Given the description of an element on the screen output the (x, y) to click on. 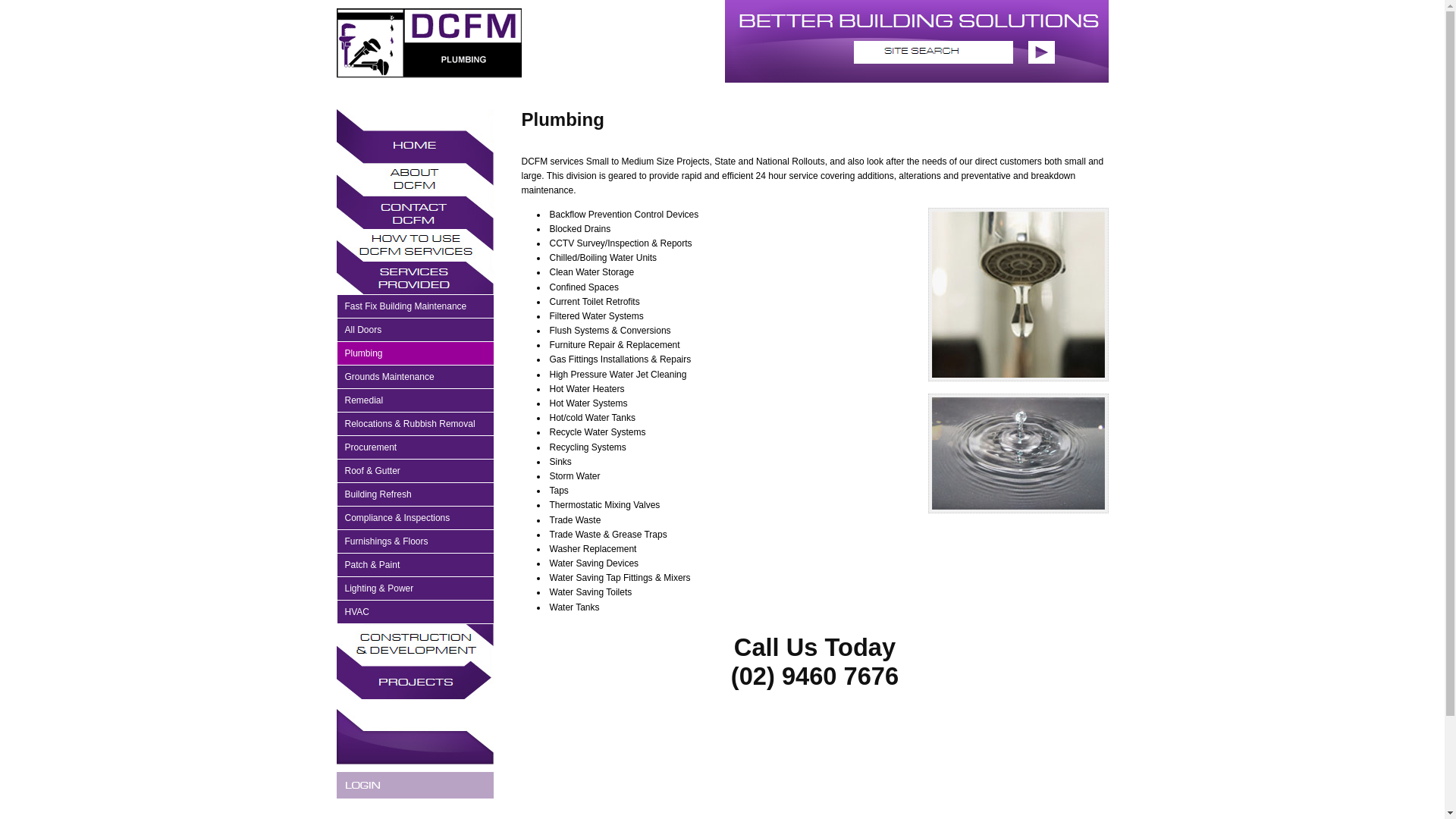
Building Refresh Element type: text (414, 494)
Fast Fix Building Maintenance Element type: text (414, 306)
Call Us Today
(02) 9460 7676 Element type: text (814, 661)
Compliance & Inspections Element type: text (414, 518)
Grounds Maintenance Element type: text (414, 377)
Furnishings & Floors Element type: text (414, 541)
Remedial Element type: text (414, 400)
All Doors Element type: text (414, 330)
Roof & Gutter Element type: text (414, 471)
Procurement Element type: text (414, 447)
Plumbing Element type: text (414, 353)
HVAC Element type: text (414, 612)
Relocations & Rubbish Removal Element type: text (414, 424)
Patch & Paint Element type: text (414, 565)
Lighting & Power Element type: text (414, 588)
